Given the description of an element on the screen output the (x, y) to click on. 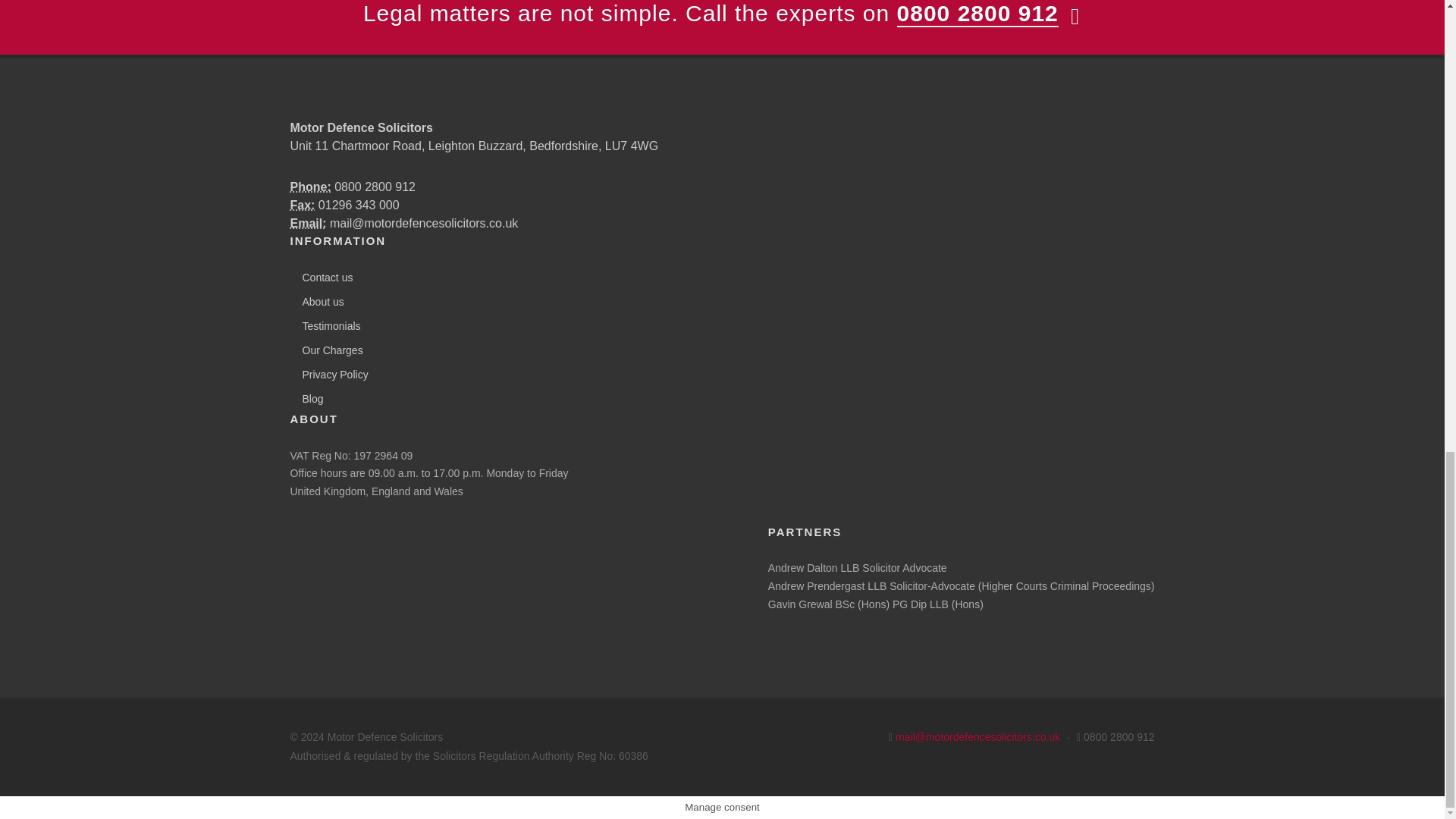
Privacy Policy (330, 374)
Our Charges (328, 350)
Contact us (323, 277)
Testimonials (327, 326)
Fax (301, 205)
About us (319, 302)
Phone Number (309, 186)
Email Address (307, 223)
Blog (308, 399)
